Given the description of an element on the screen output the (x, y) to click on. 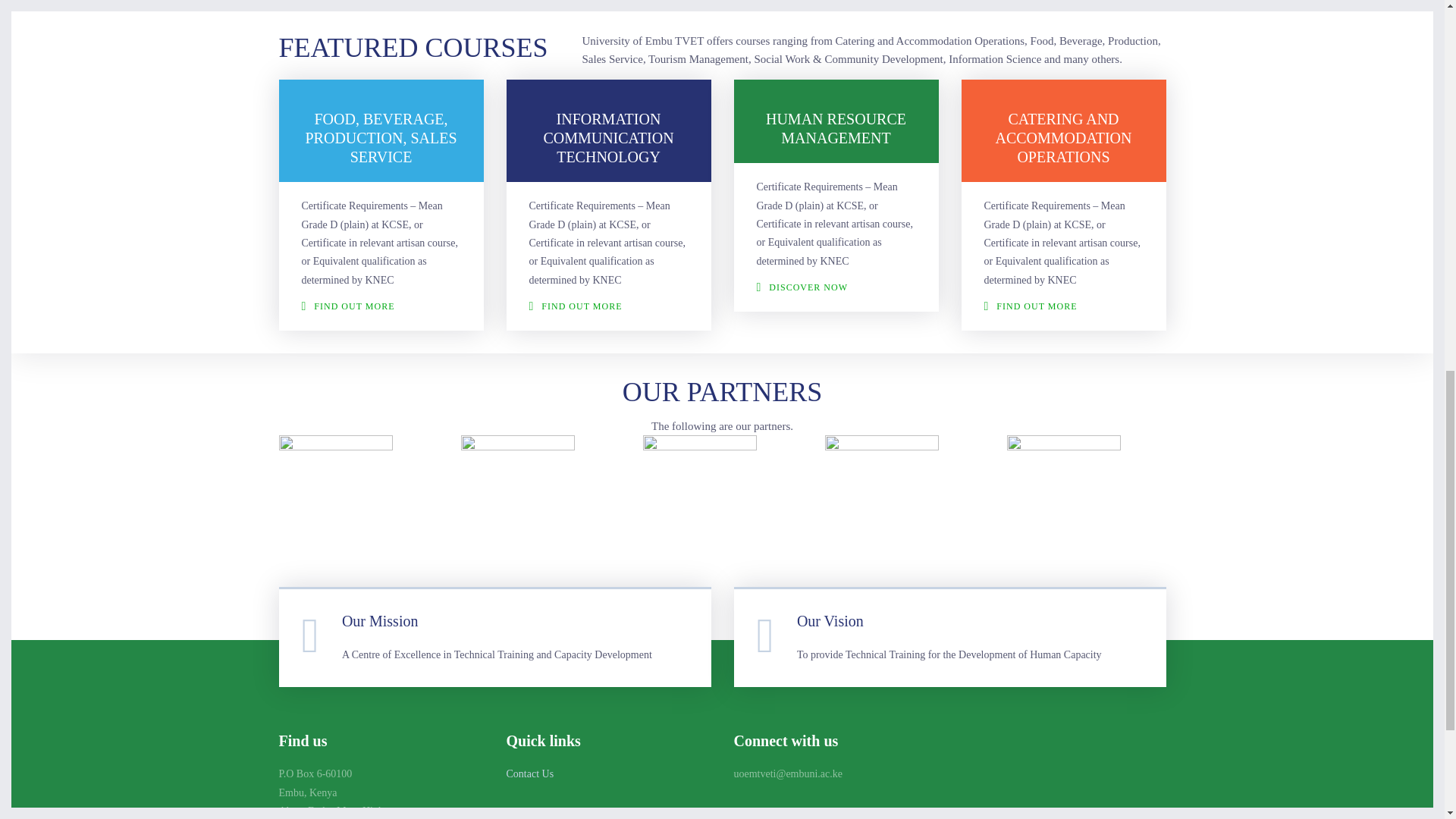
MoE (882, 491)
Kasneb (1064, 491)
KNEC (700, 491)
KICD (518, 491)
TVETA (336, 491)
